Given the description of an element on the screen output the (x, y) to click on. 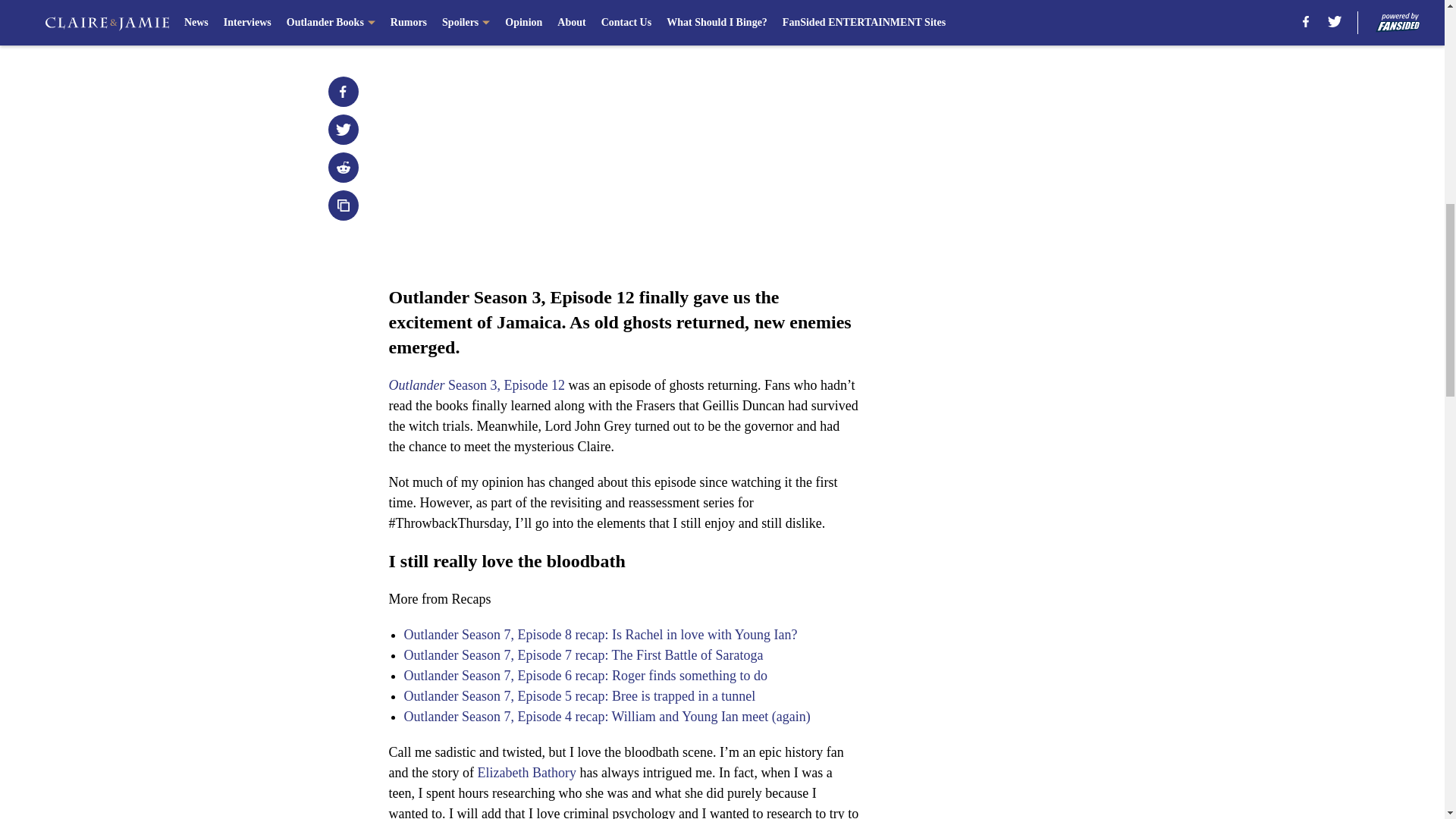
Outlander Season 3, Episode 12 (476, 385)
Elizabeth Bathory (526, 772)
